Given the description of an element on the screen output the (x, y) to click on. 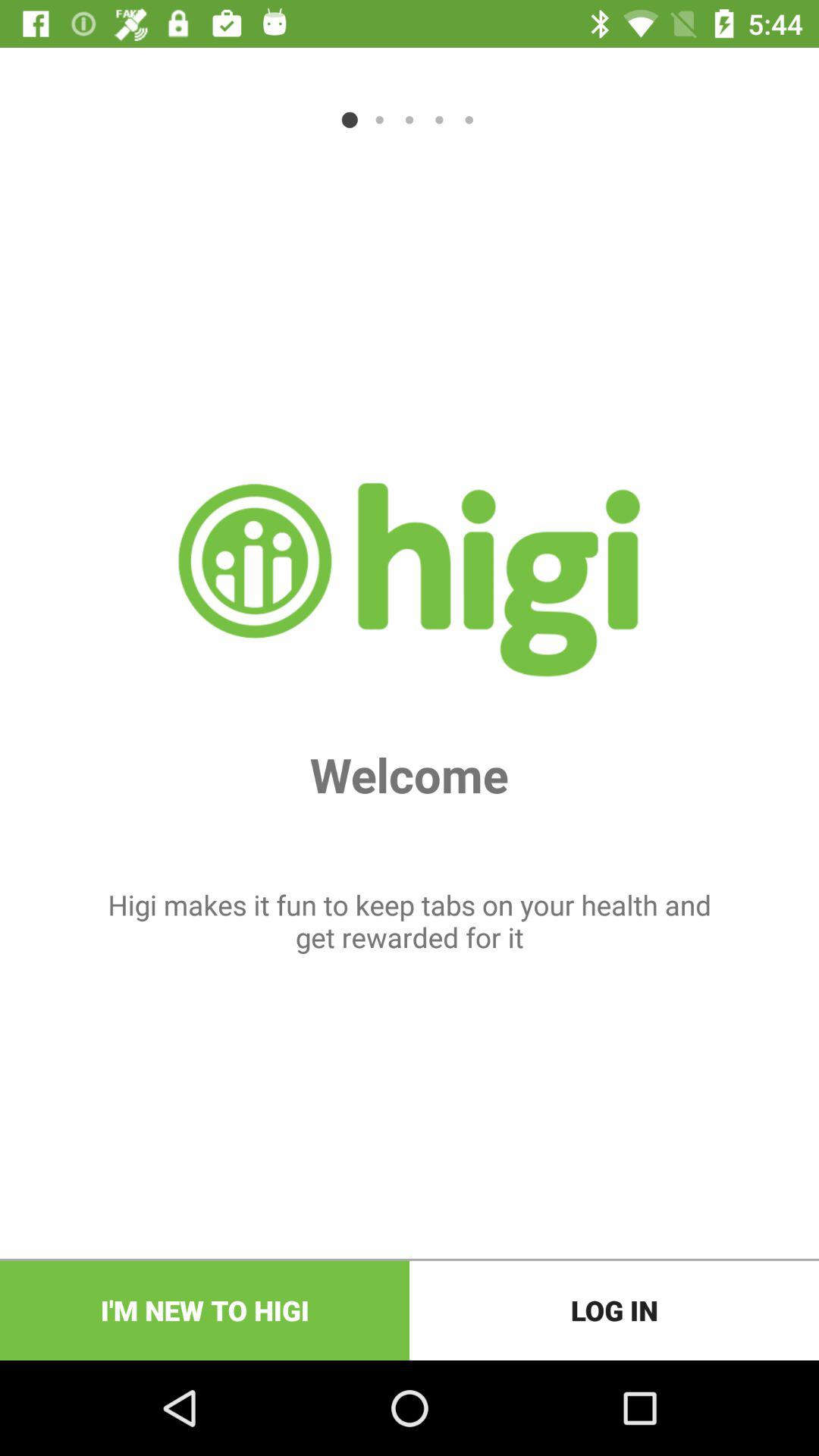
launch log in item (614, 1310)
